Given the description of an element on the screen output the (x, y) to click on. 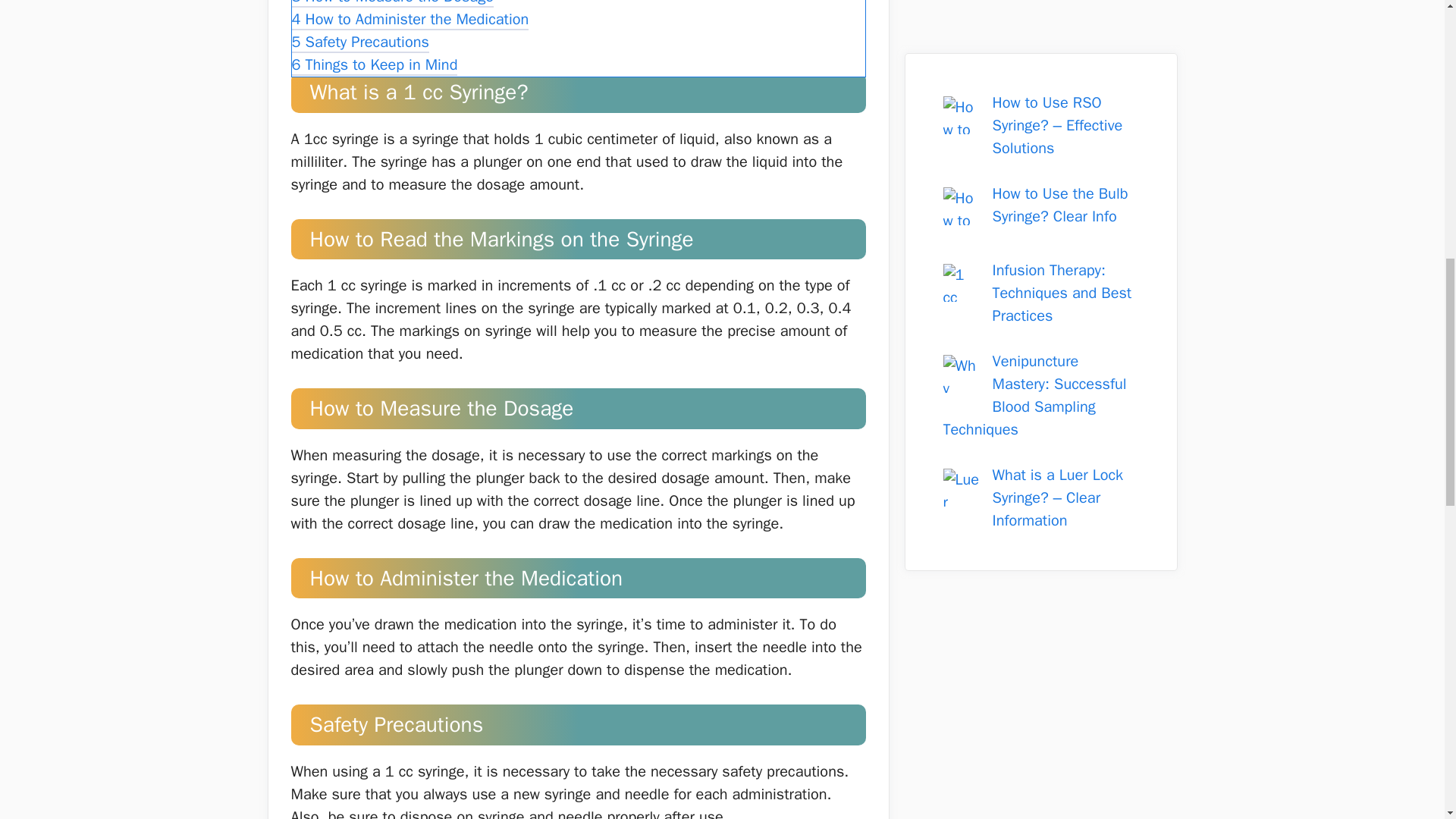
5 Safety Precautions (359, 43)
4 How to Administer the Medication (409, 20)
6 Things to Keep in Mind (374, 65)
3 How to Measure the Dosage (392, 4)
